Given the description of an element on the screen output the (x, y) to click on. 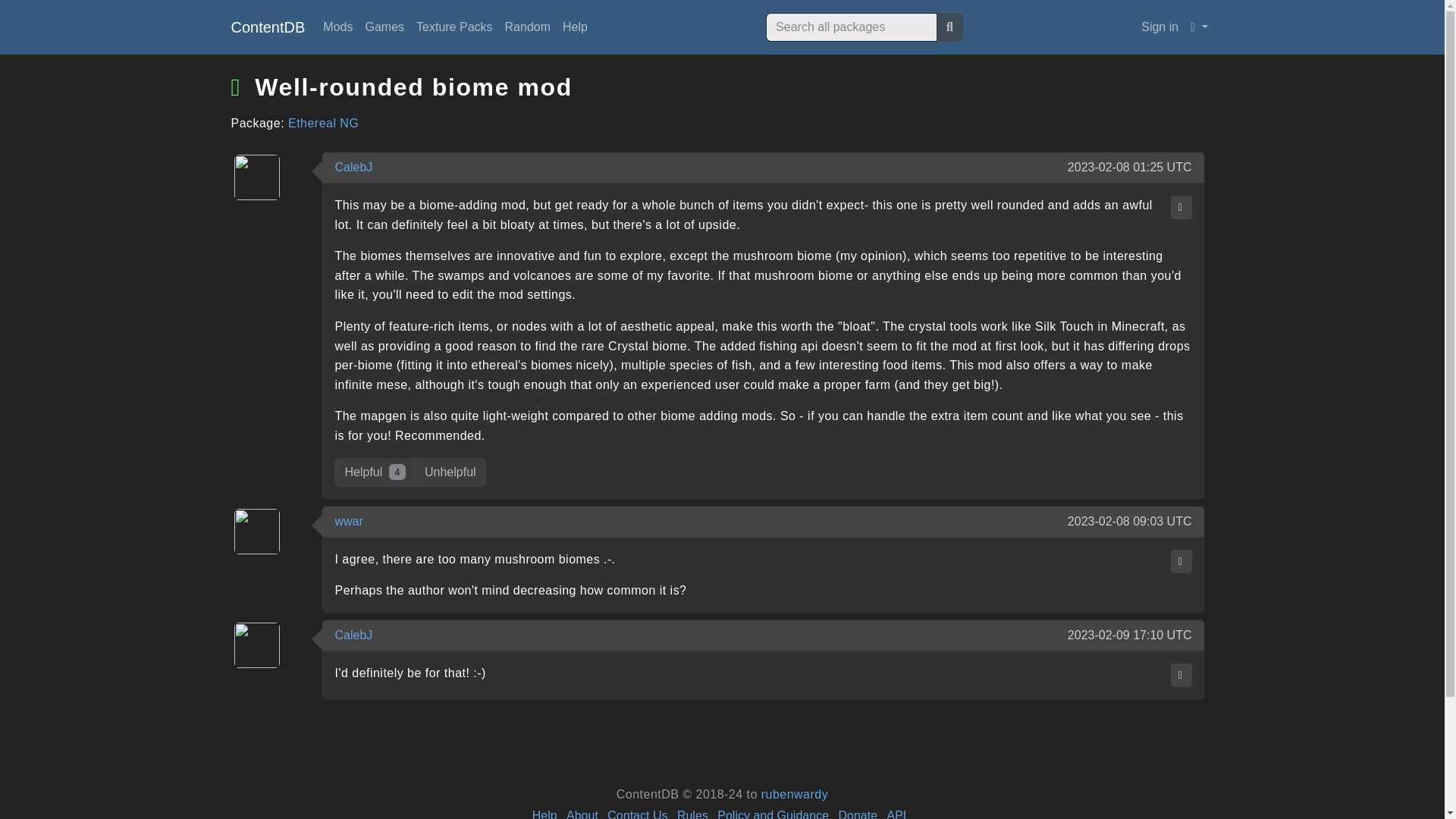
Sign in (1160, 27)
2023-02-08 09:03 UTC (1129, 521)
Languages (1198, 27)
Helpful 4 (374, 471)
wwar (348, 521)
Help (575, 27)
2023-02-08 01:25 UTC (1129, 167)
Ethereal NG (323, 123)
Games (384, 27)
2023-02-08 09:03 UTC (1129, 521)
